Given the description of an element on the screen output the (x, y) to click on. 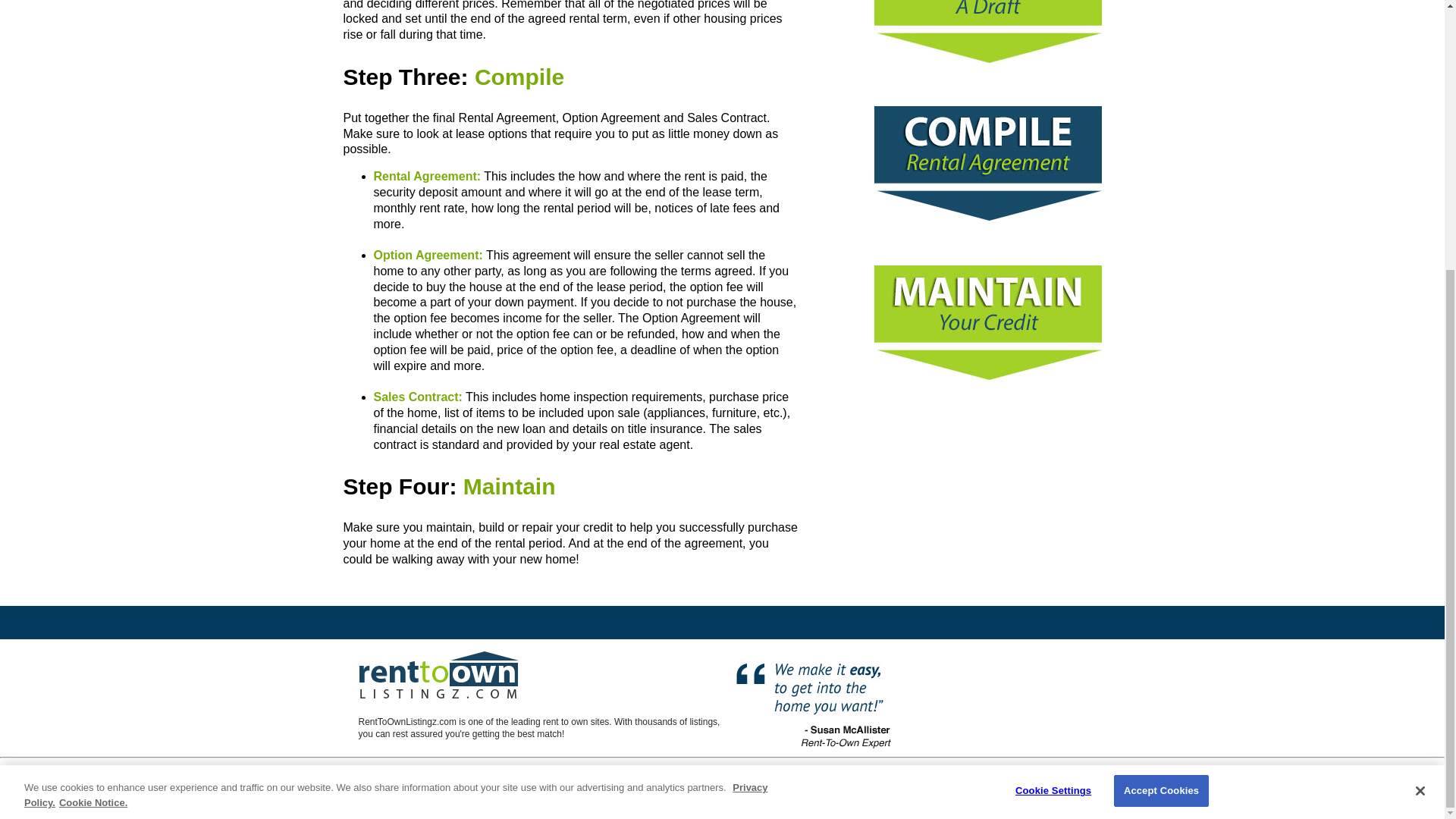
Do Not Sell or Share My Personal Information (550, 789)
Cookie Policy (864, 789)
Privacy Policy (370, 789)
Cookie Notice. (93, 408)
Accept Cookies (1160, 396)
Limit the Use of Sensitive Personal Information (739, 789)
Accessibility Statement (1018, 789)
Vulnerability Policy (933, 789)
step three (569, 76)
step four (569, 486)
